Given the description of an element on the screen output the (x, y) to click on. 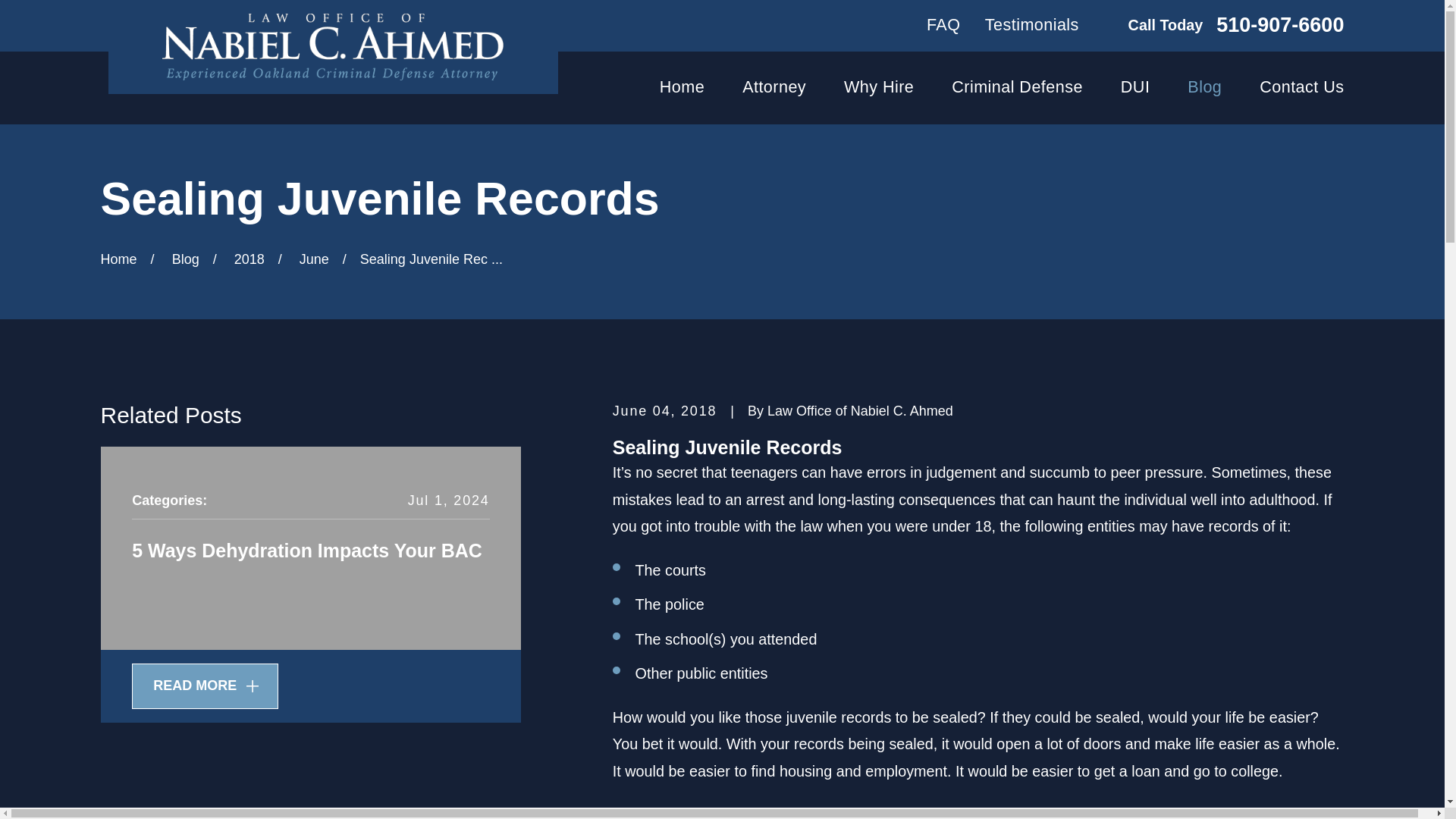
FAQ (943, 24)
Home (681, 87)
Criminal Defense (1017, 87)
Testimonials (1031, 24)
Go Home (118, 258)
Why Hire (879, 87)
510-907-6600 (1279, 25)
Attorney (774, 87)
Home (332, 46)
